Given the description of an element on the screen output the (x, y) to click on. 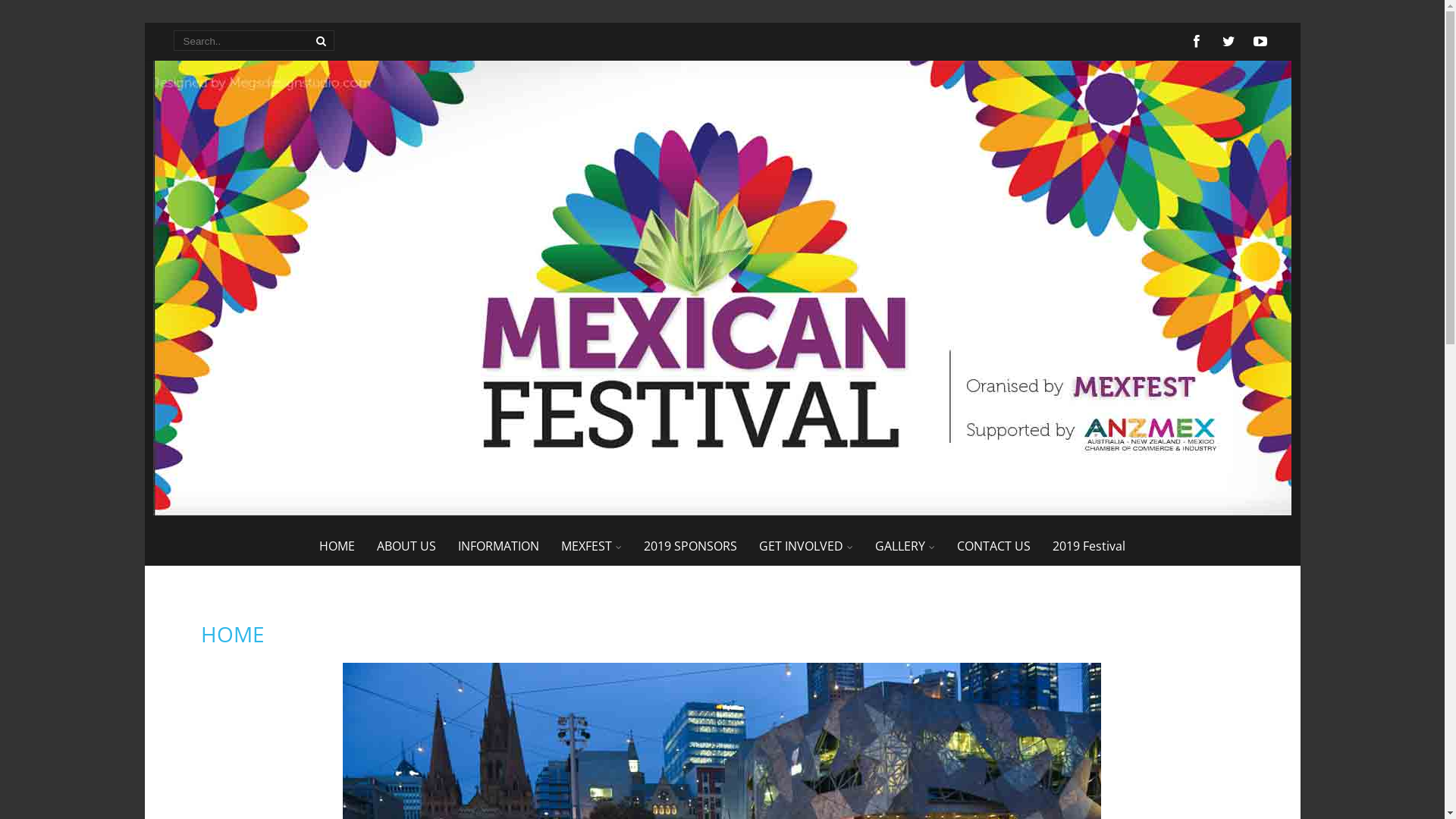
GET INVOLVED Element type: text (806, 545)
GALLERY Element type: text (905, 545)
Melbourne Mexican Festival Element type: hover (722, 511)
INFORMATION Element type: text (498, 545)
2019 Festival Element type: text (1088, 545)
ABOUT US Element type: text (406, 545)
MEXFEST Element type: text (591, 545)
CONTACT US Element type: text (993, 545)
2019 SPONSORS Element type: text (690, 545)
HOME Element type: text (336, 545)
